Given the description of an element on the screen output the (x, y) to click on. 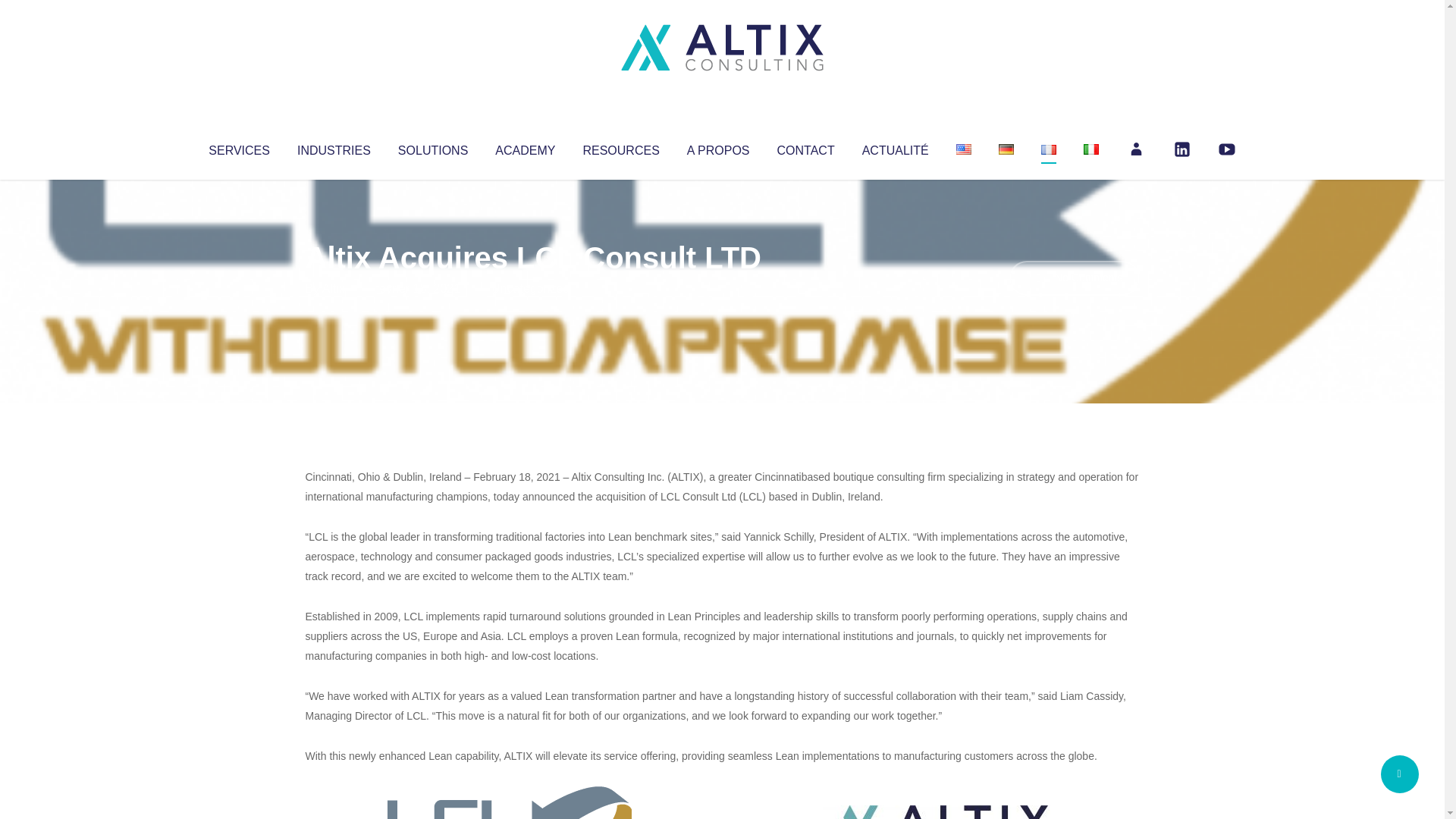
SERVICES (238, 146)
Altix (333, 287)
A PROPOS (718, 146)
RESOURCES (620, 146)
ACADEMY (524, 146)
SOLUTIONS (432, 146)
Articles par Altix (333, 287)
No Comments (1073, 278)
Uncategorized (530, 287)
INDUSTRIES (334, 146)
